Given the description of an element on the screen output the (x, y) to click on. 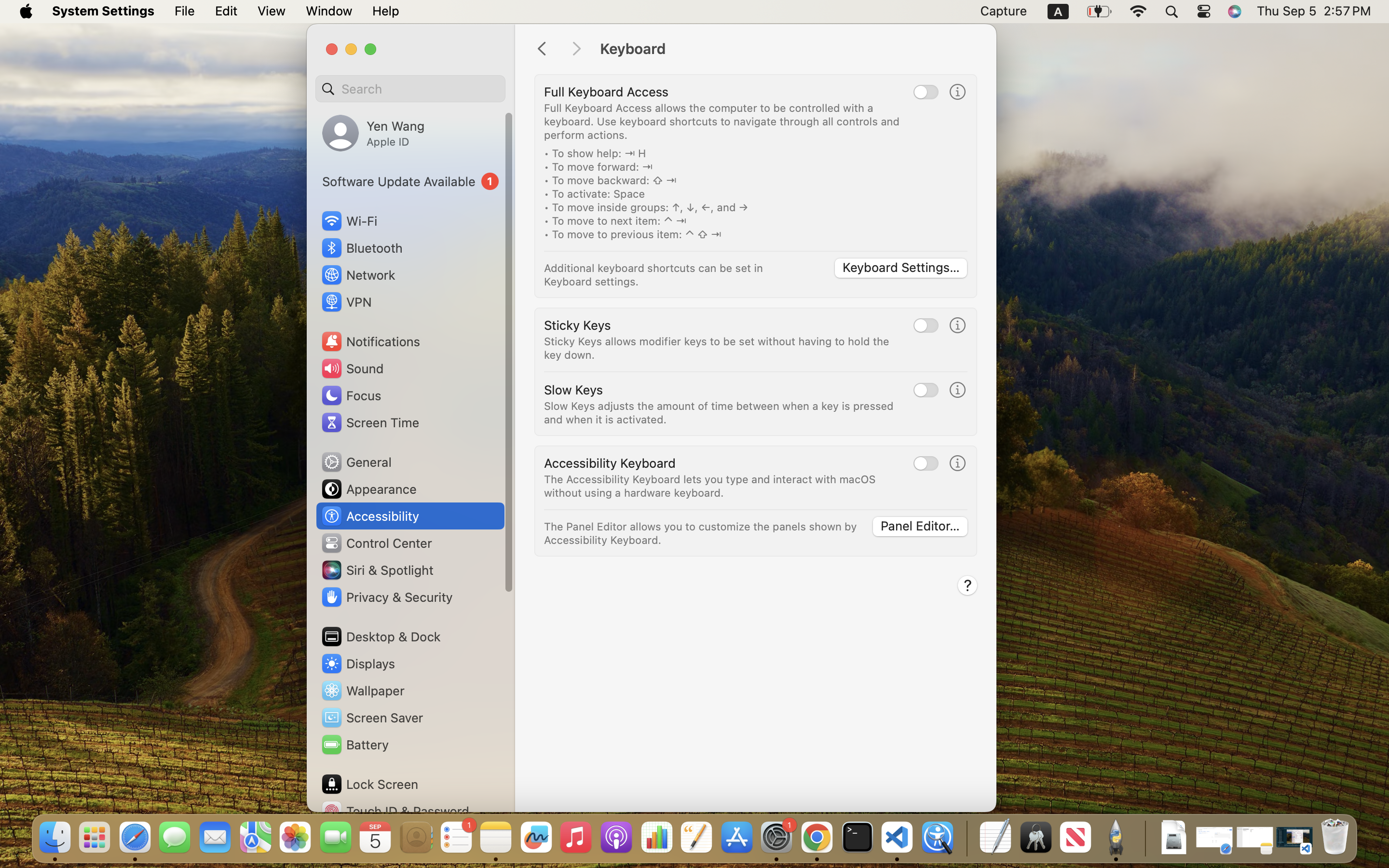
Displays Element type: AXStaticText (357, 663)
Slow Keys Element type: AXStaticText (573, 389)
The Accessibility Keyboard lets you type and interact with macOS without using a hardware keyboard. Element type: AXStaticText (711, 485)
Additional keyboard shortcuts can be set in Keyboard settings. Element type: AXStaticText (654, 274)
